Given the description of an element on the screen output the (x, y) to click on. 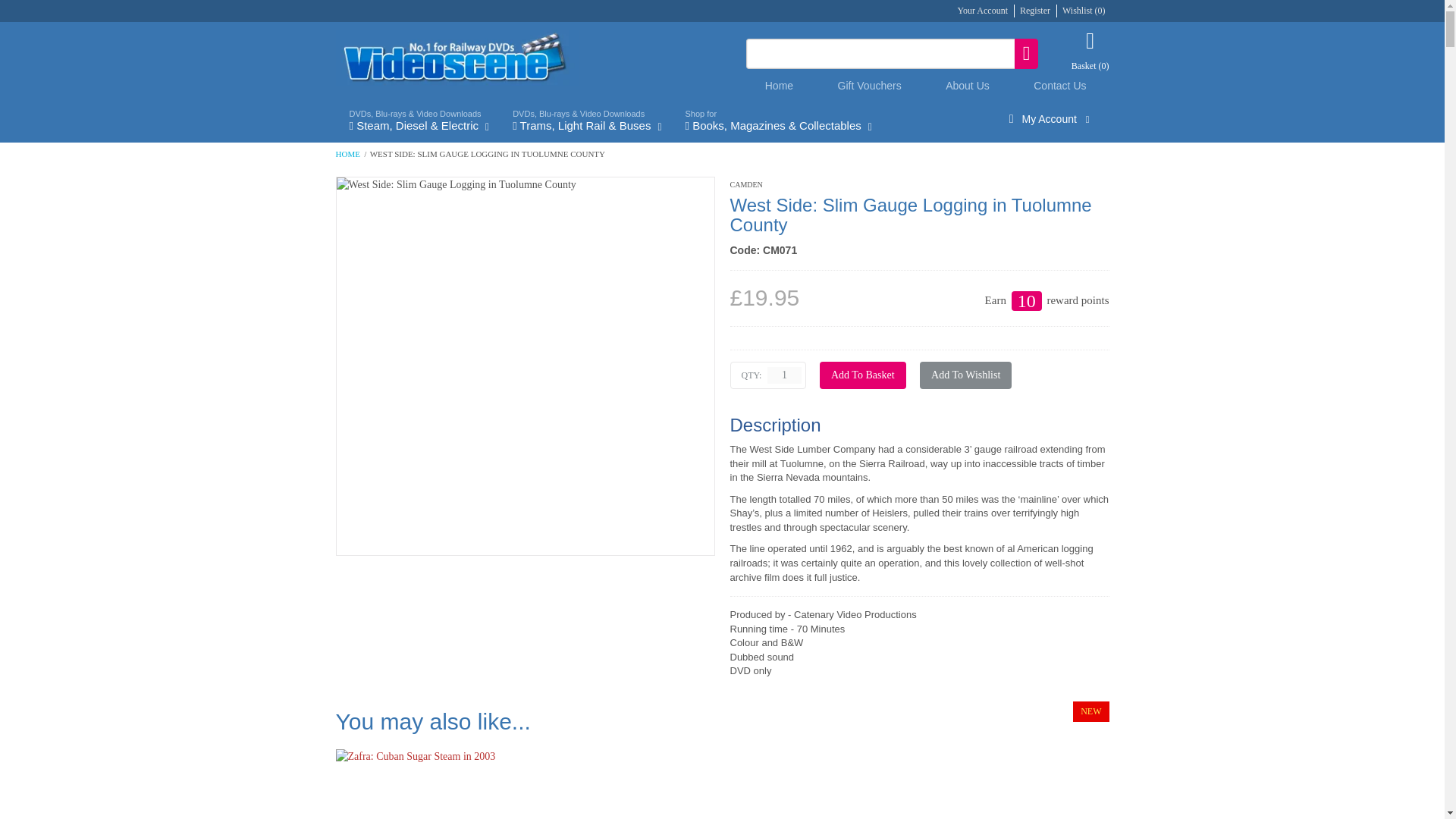
Your Account (982, 9)
Gift Vouchers (869, 85)
Register (1034, 9)
Contact Us (1059, 85)
Home (779, 85)
1 (784, 375)
About Us (967, 85)
